Given the description of an element on the screen output the (x, y) to click on. 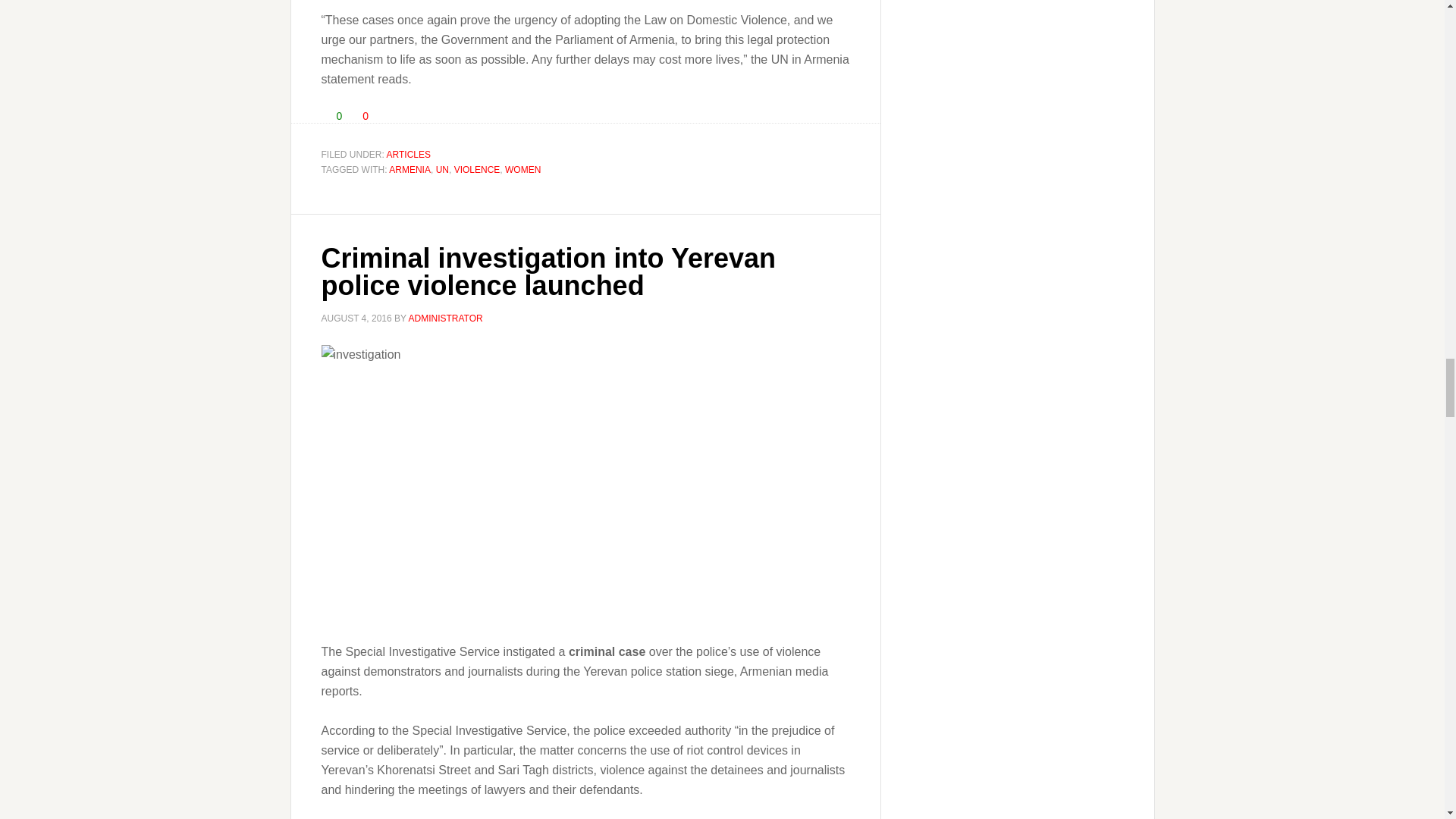
Unlike (352, 114)
ARTICLES (408, 154)
Like (326, 114)
